Given the description of an element on the screen output the (x, y) to click on. 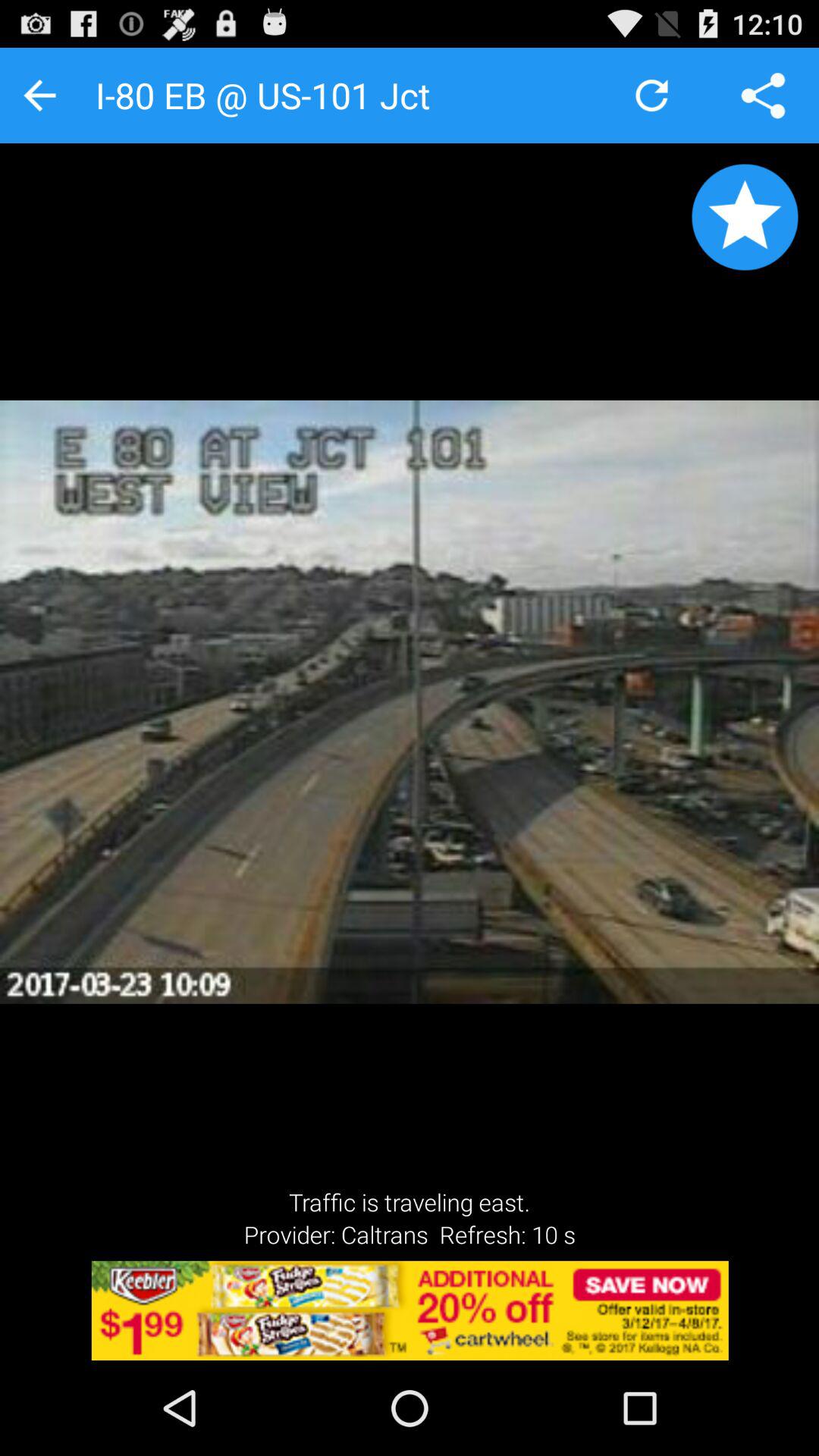
favorite i-80 eb us-101 jct (745, 217)
